Given the description of an element on the screen output the (x, y) to click on. 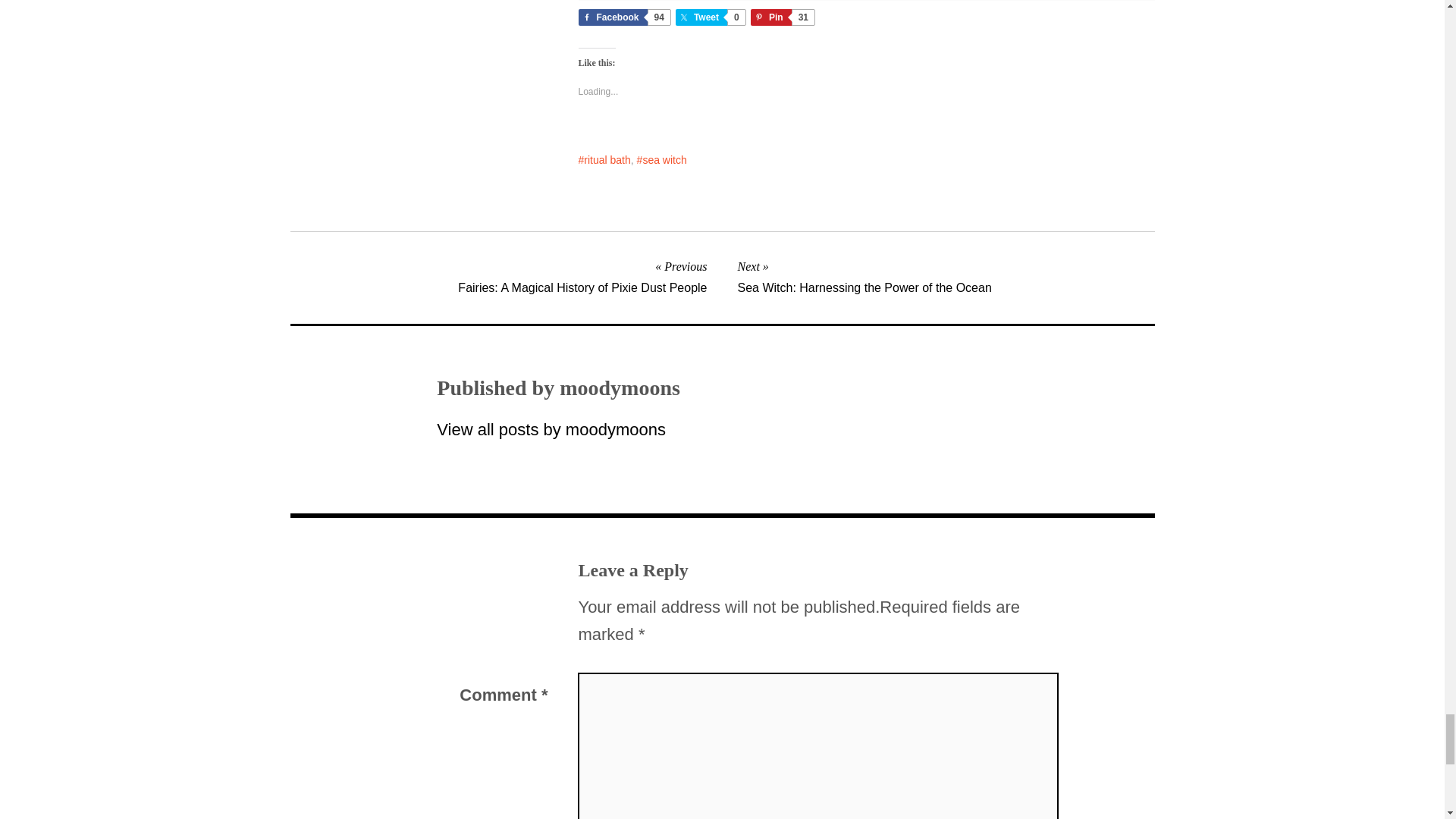
Share on Twitter (709, 17)
Share on Pinterest (782, 17)
Share on Facebook (623, 17)
